Given the description of an element on the screen output the (x, y) to click on. 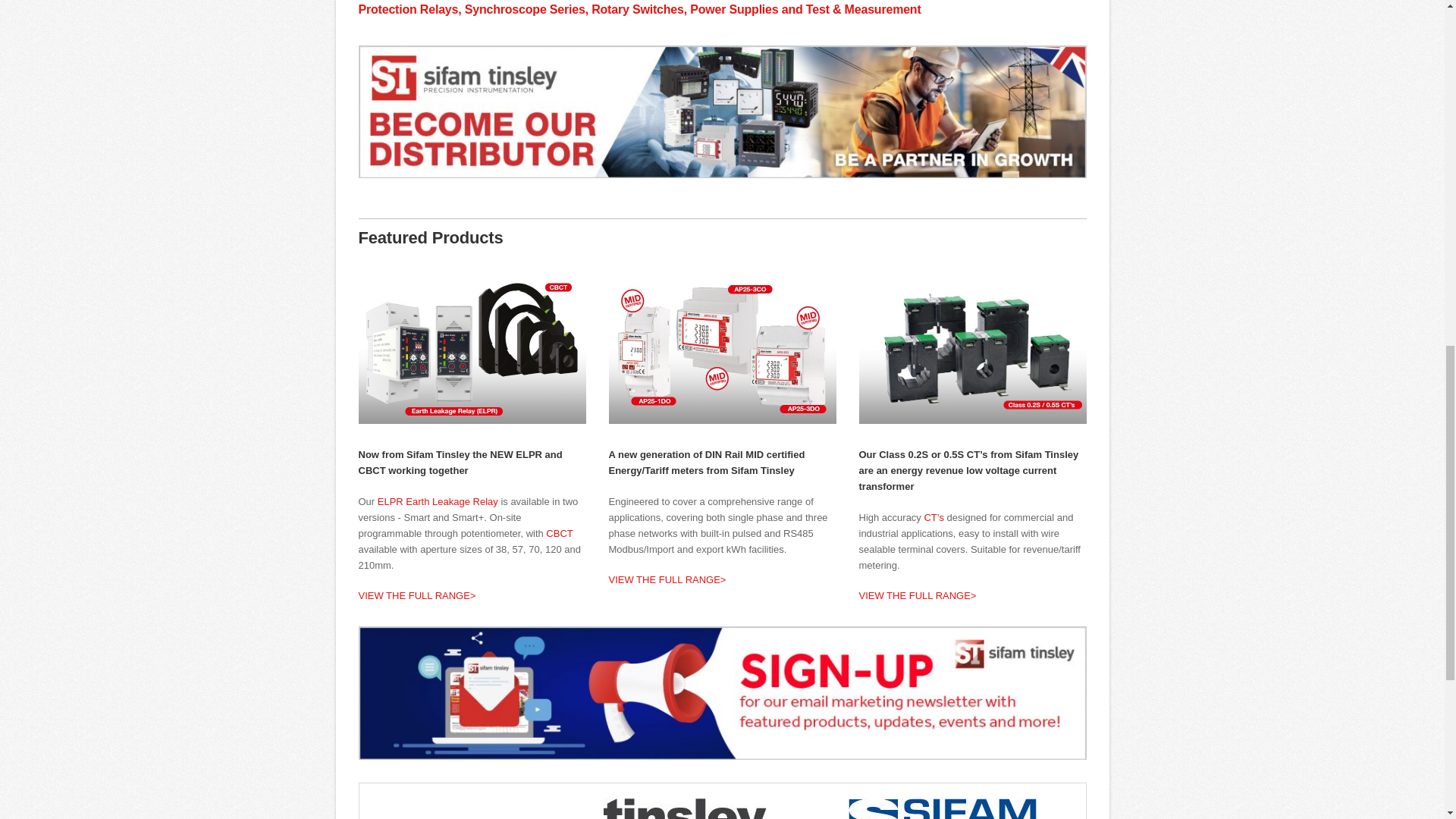
Sign-up for our newsletter (722, 692)
ELPR-and-CBCT (471, 347)
Omega XMER Class 0.2S (972, 347)
tinsley (685, 808)
Become our distributor (722, 111)
sifam (942, 808)
AP25-range (721, 347)
